Given the description of an element on the screen output the (x, y) to click on. 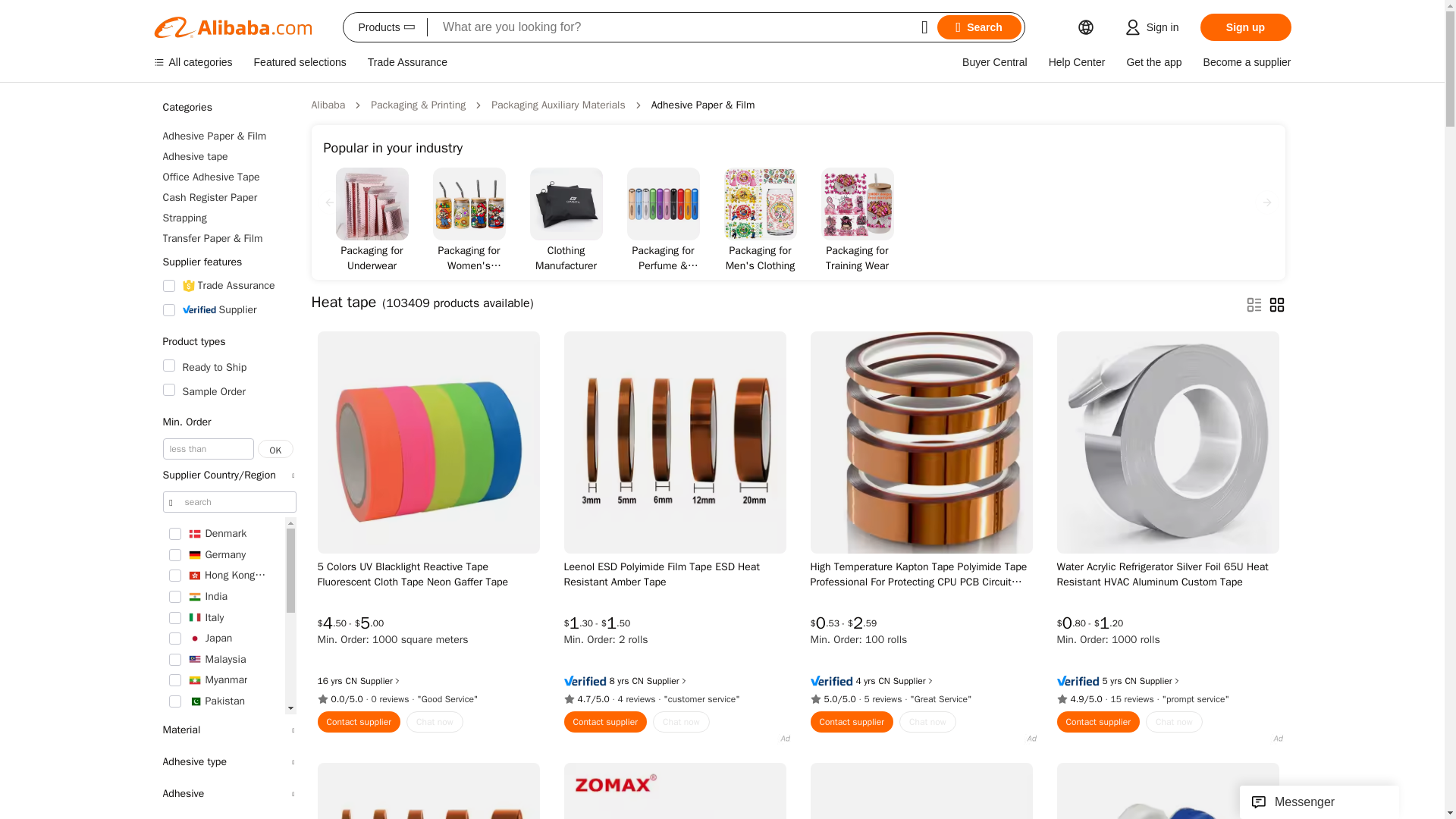
Office Adhesive Tape (228, 176)
Adhesive tape (228, 156)
Categories (228, 107)
